Given the description of an element on the screen output the (x, y) to click on. 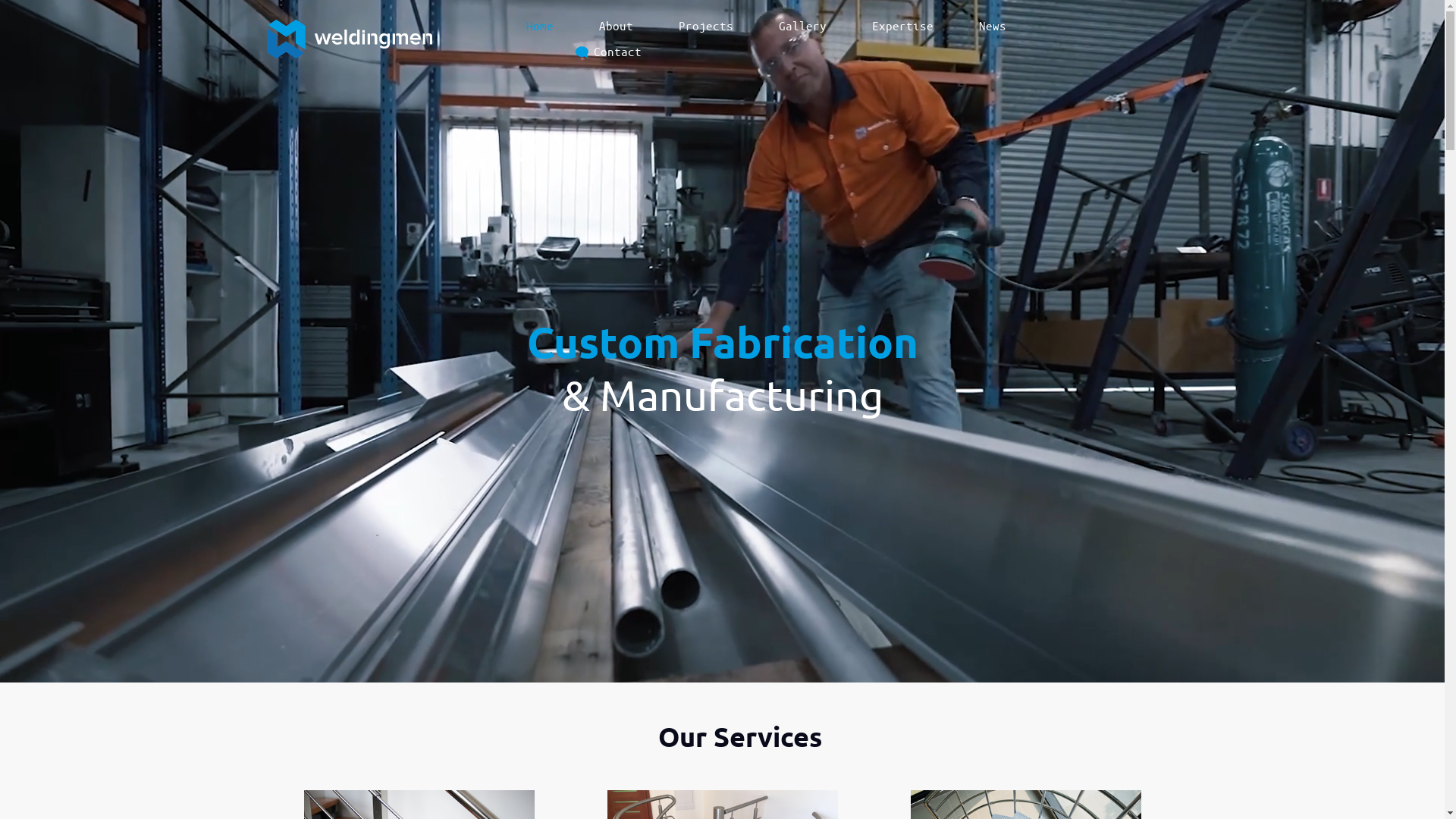
News Element type: text (992, 25)
About Element type: text (615, 25)
Projects Element type: text (705, 25)
Home Element type: text (539, 25)
Gallery Element type: text (802, 25)
Contact Element type: text (617, 51)
Expertise Element type: text (902, 25)
